Given the description of an element on the screen output the (x, y) to click on. 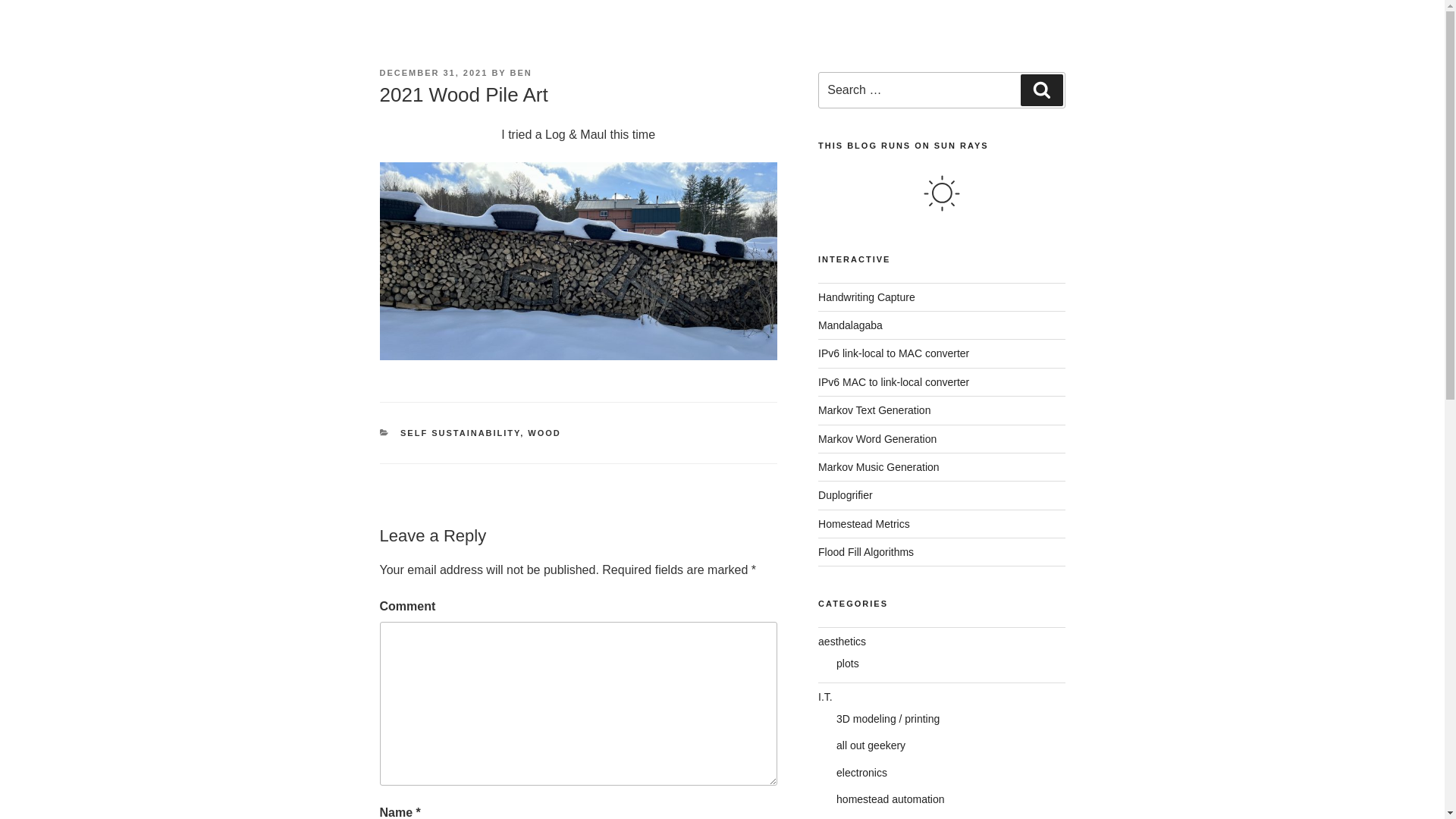
IPv6 link-local to MAC converter (893, 353)
Markov Music Generation (878, 467)
Duplogrifier (845, 494)
DECEMBER 31, 2021 (432, 71)
all out geekery (870, 745)
electronics (860, 772)
IPv6 MAC to link-local converter (893, 381)
Homestead Metrics (864, 523)
homestead automation (889, 799)
Markov Word Generation (877, 438)
plots (847, 663)
SELF SUSTAINABILITY (459, 432)
Markov Text Generation (874, 410)
BEN (521, 71)
WOOD (543, 432)
